Given the description of an element on the screen output the (x, y) to click on. 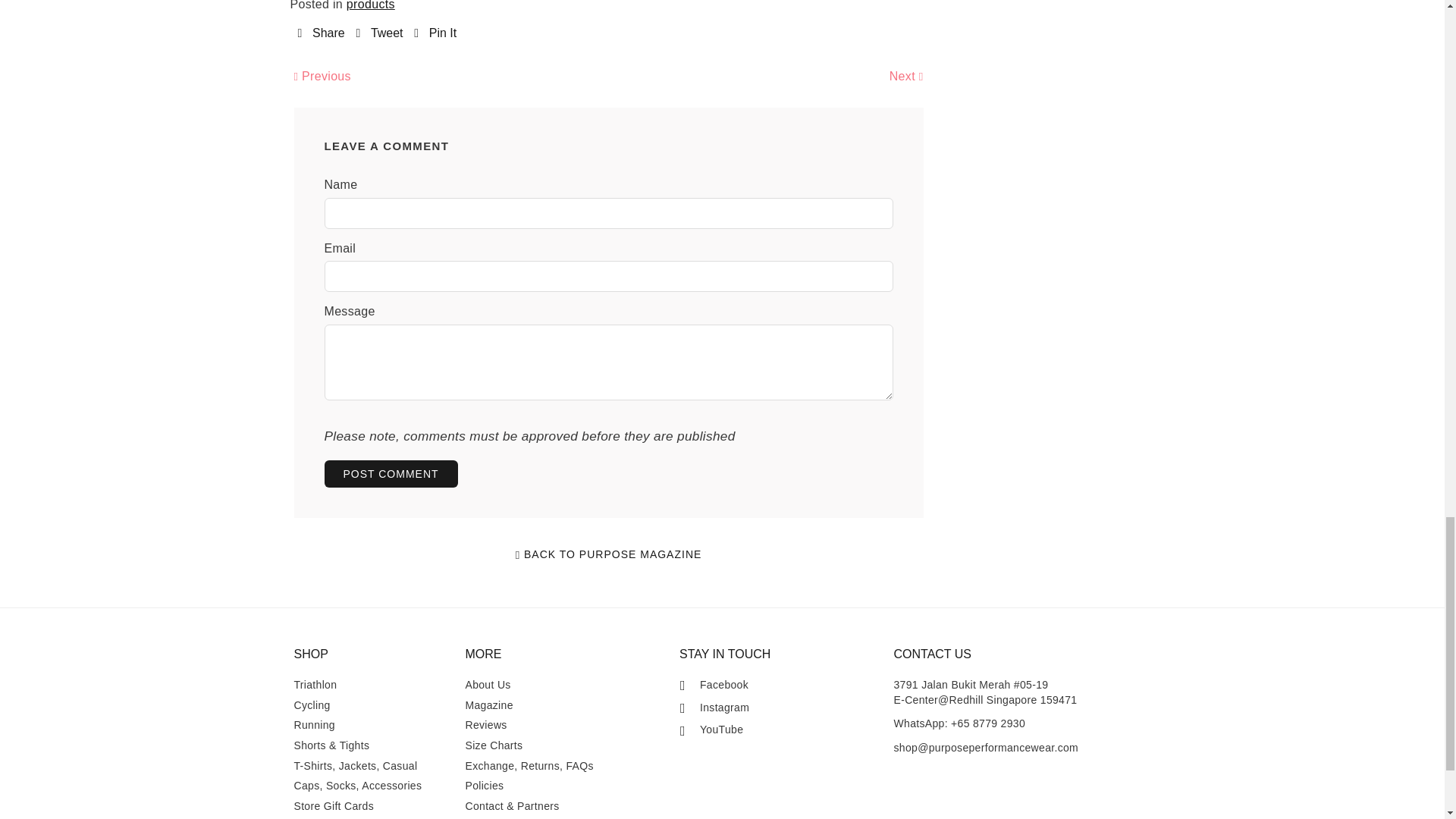
Pin on Pinterest (435, 32)
Purpose Performance Wear on YouTube (711, 729)
Purpose Performance Wear on Facebook (714, 685)
Share on Facebook (320, 32)
Tweet on Twitter (379, 32)
Post comment (391, 473)
Purpose Performance Wear on Instagram (714, 708)
